Given the description of an element on the screen output the (x, y) to click on. 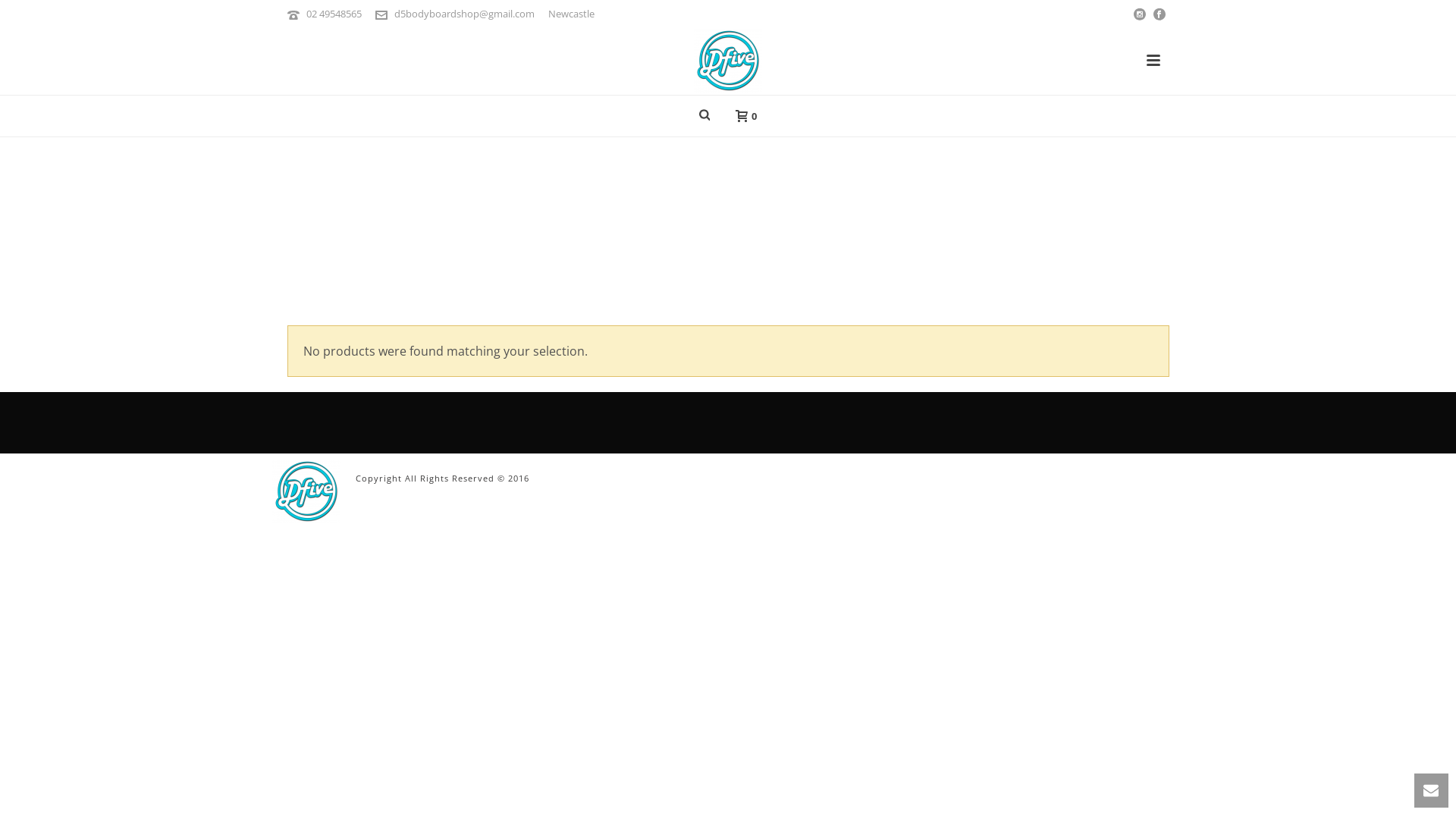
02 49548565 Element type: text (333, 13)
d5bodyboardshop@gmail.com Element type: text (464, 13)
0 Element type: text (742, 115)
